Given the description of an element on the screen output the (x, y) to click on. 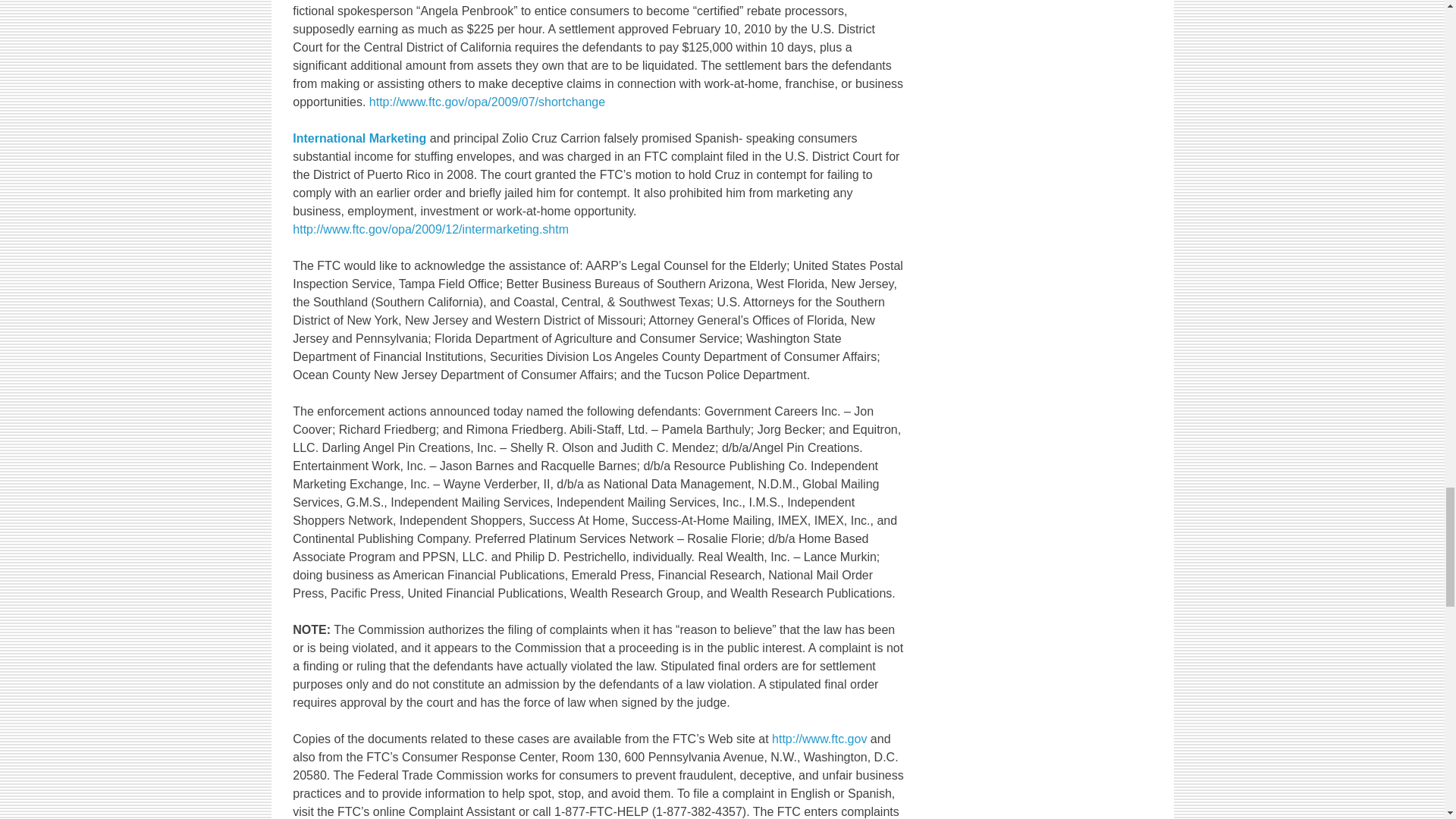
International Marketing (359, 137)
